Given the description of an element on the screen output the (x, y) to click on. 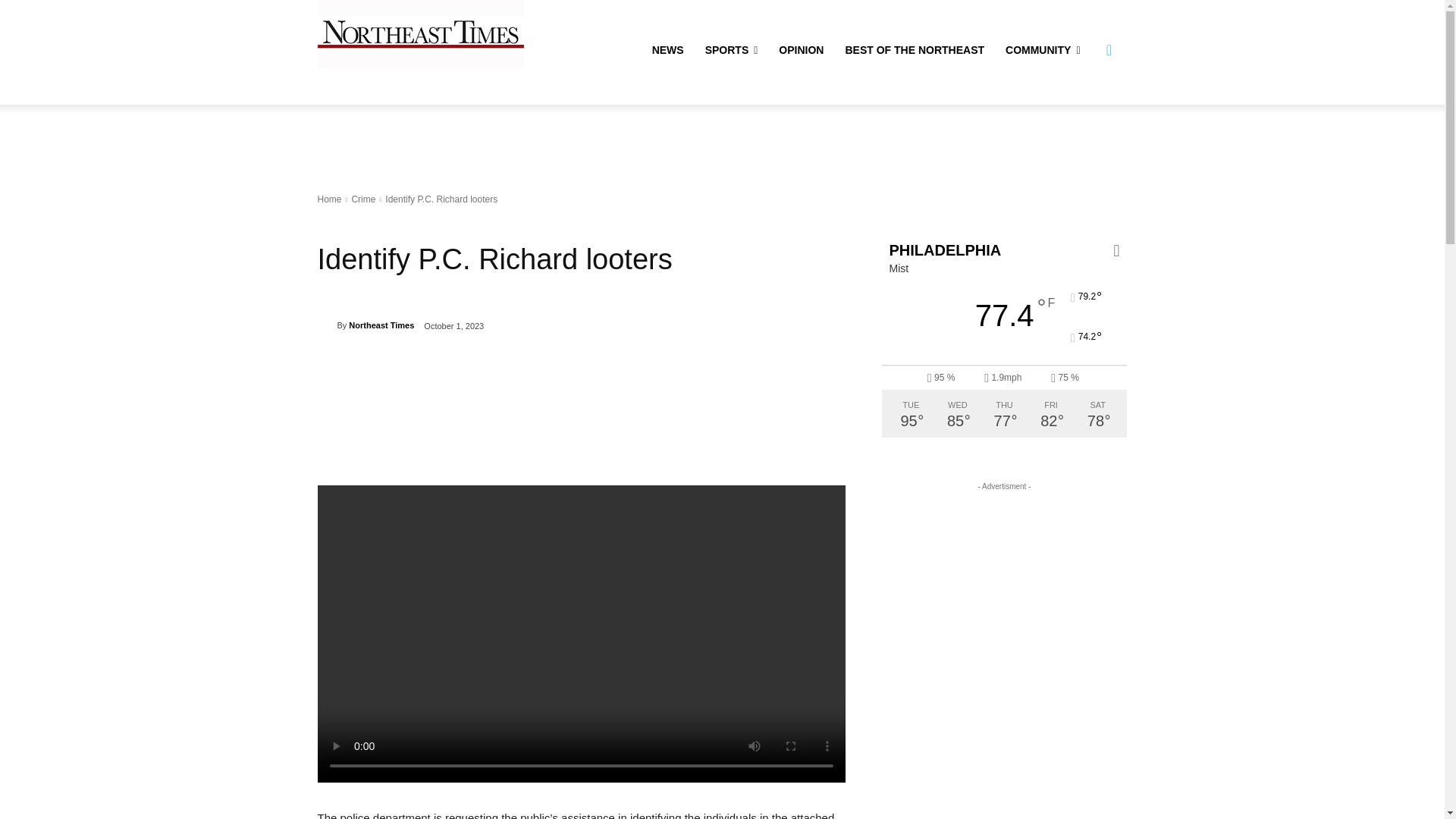
OPINION (801, 49)
Crime (362, 199)
Northeast Times (381, 324)
NEWS (668, 49)
SPORTS (731, 49)
BEST OF THE NORTHEAST (914, 49)
Northeast Times (326, 324)
View all posts in Crime (362, 199)
Home (328, 199)
COMMUNITY (1042, 49)
